Given the description of an element on the screen output the (x, y) to click on. 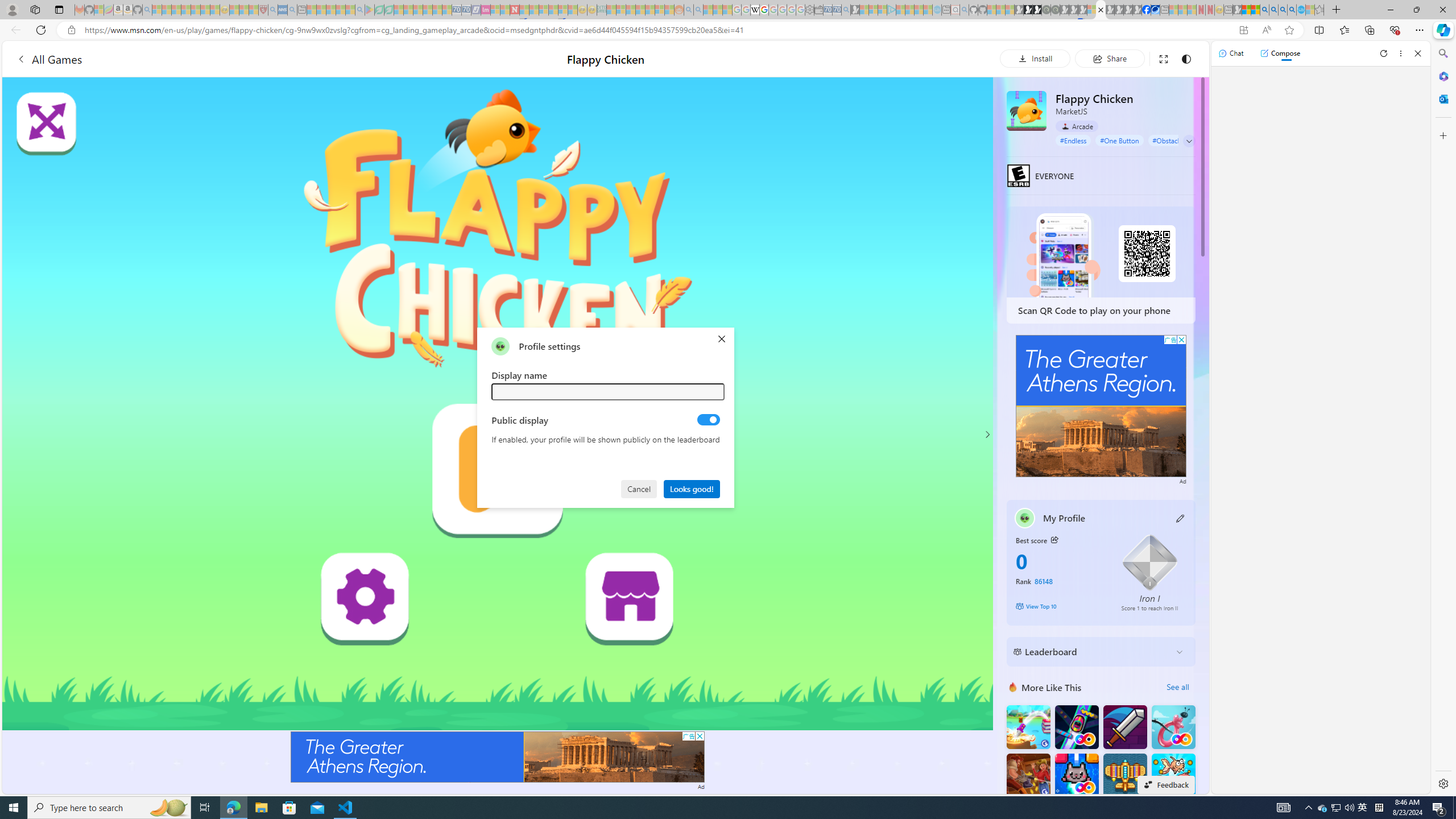
Play Zoo Boom in your browser | Games from Microsoft Start (1027, 9)
More Like This (1012, 686)
